Given the description of an element on the screen output the (x, y) to click on. 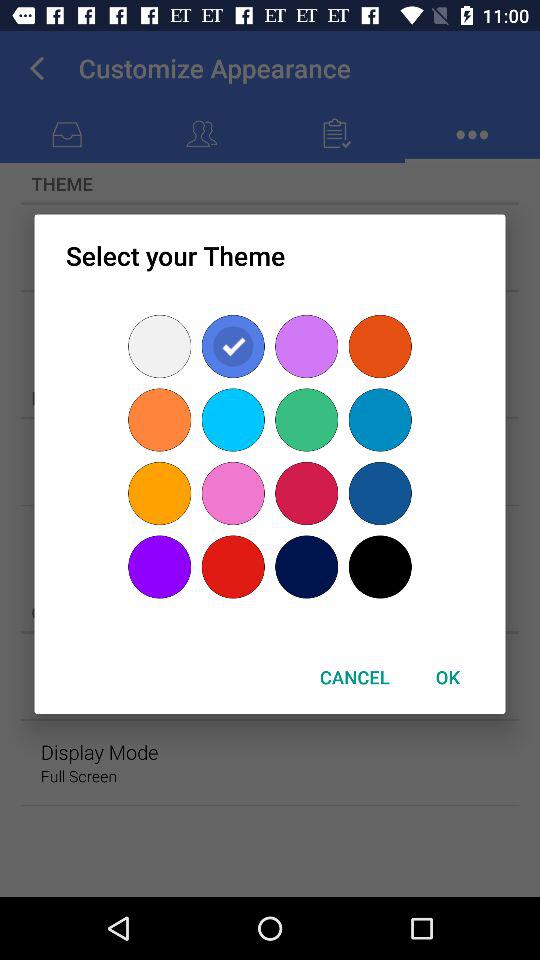
turn on ok item (447, 676)
